Given the description of an element on the screen output the (x, y) to click on. 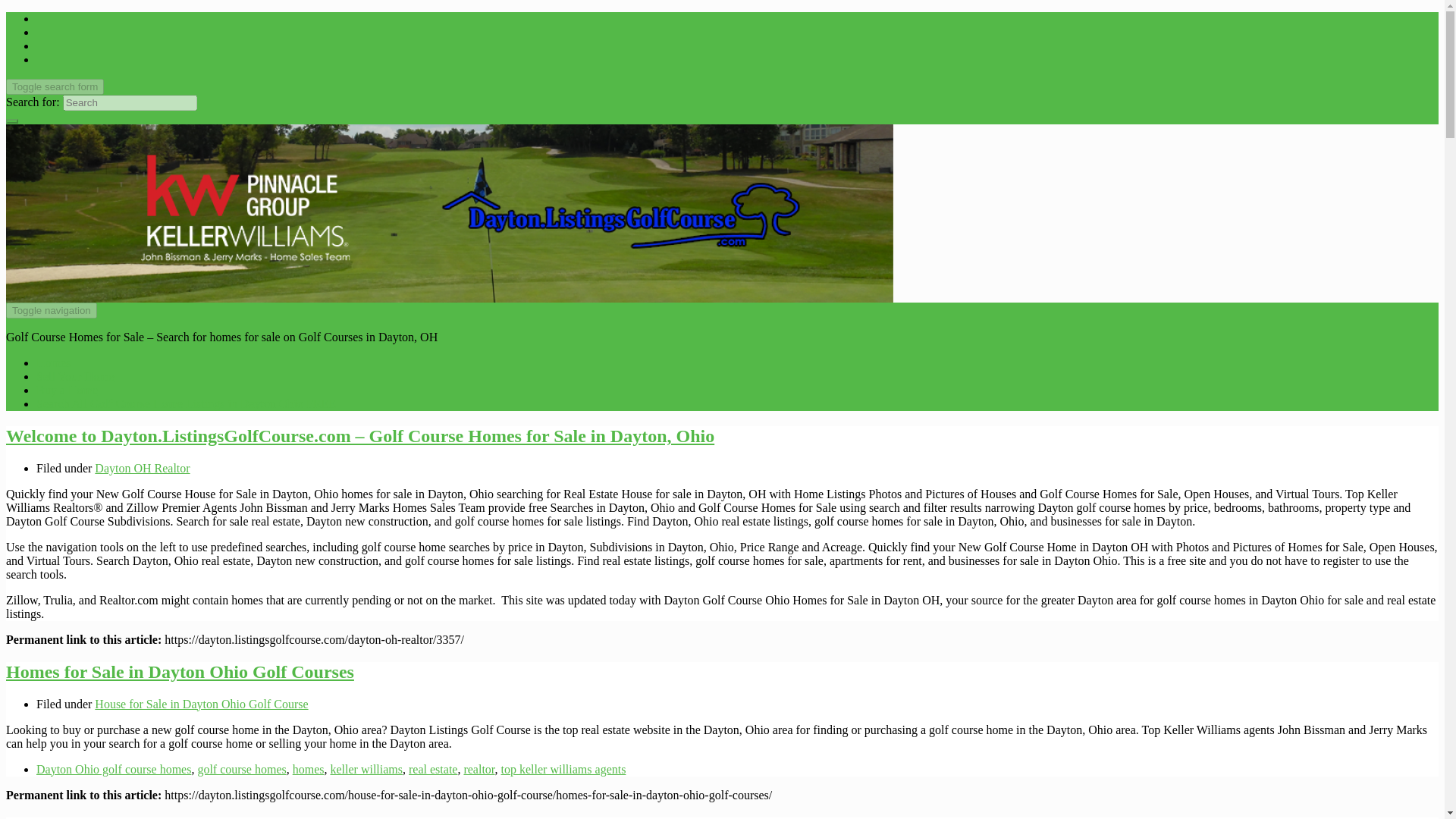
Search All Golf Course Home Listings in Dayton Ohio FREE (186, 403)
Permalink to Homes for Sale in Dayton Ohio Golf Courses (179, 671)
Sell Your Home (75, 376)
Homes for Sale in Dayton Ohio Golf Courses (179, 671)
realtor (479, 768)
House for Sale in Dayton Ohio Golf Course (200, 703)
real estate (433, 768)
Buy a Home (66, 390)
Toggle search form (54, 86)
top keller williams agents (563, 768)
Homes (52, 362)
Toggle navigation (51, 310)
Dayton Ohio golf course homes (113, 768)
golf course homes (240, 768)
